Given the description of an element on the screen output the (x, y) to click on. 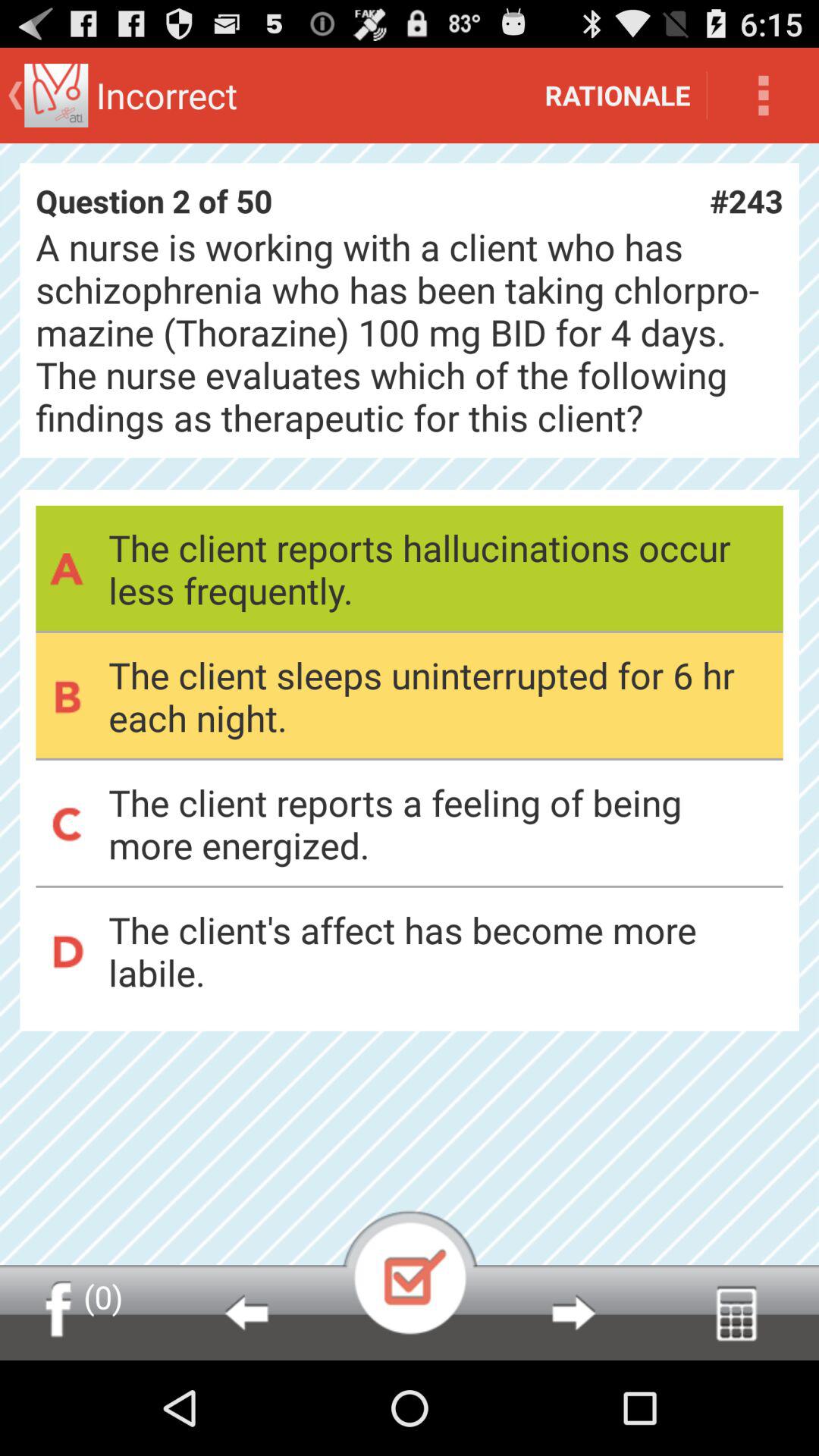
go to select (409, 1272)
